Given the description of an element on the screen output the (x, y) to click on. 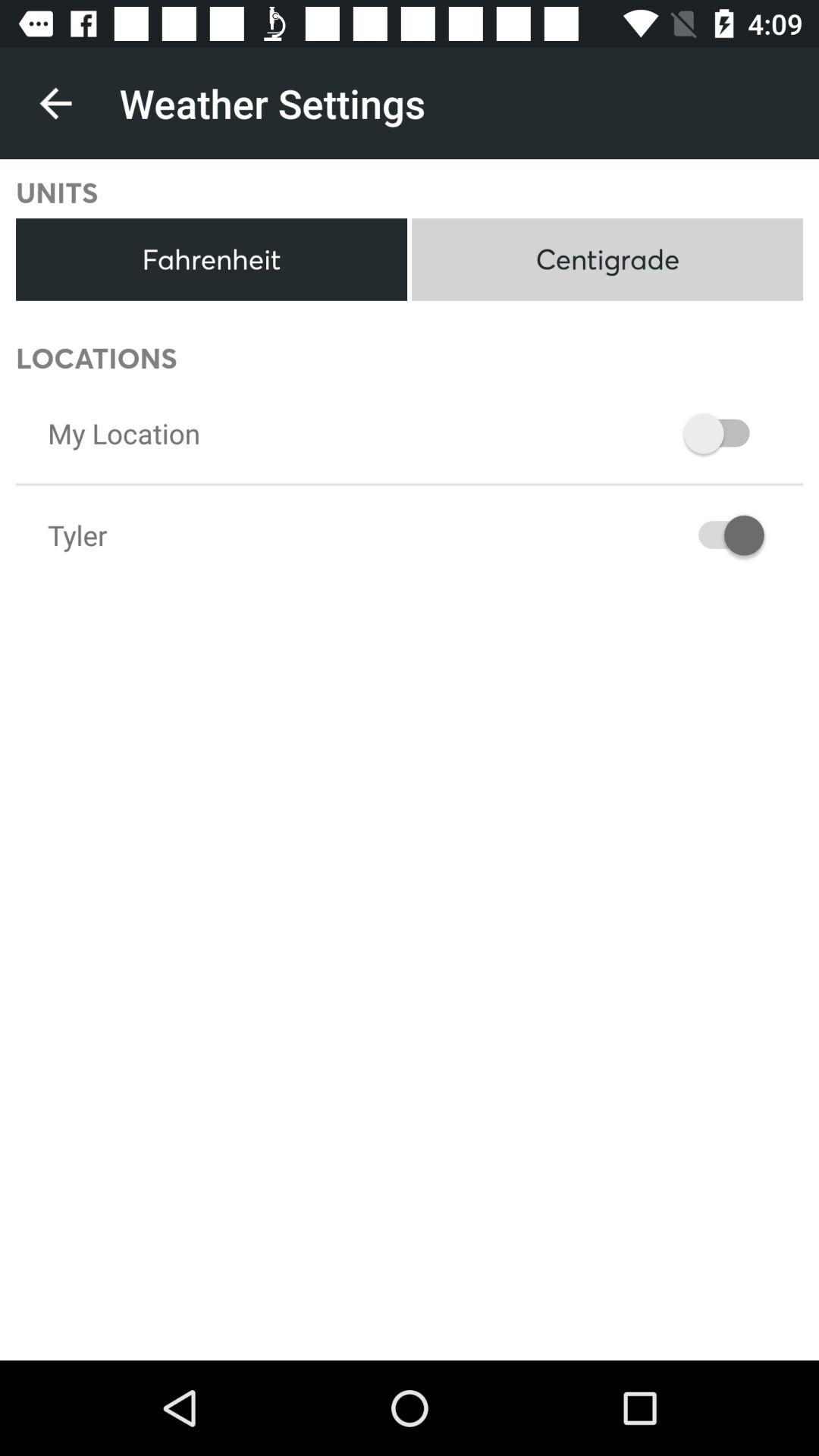
flip to centigrade (607, 259)
